Given the description of an element on the screen output the (x, y) to click on. 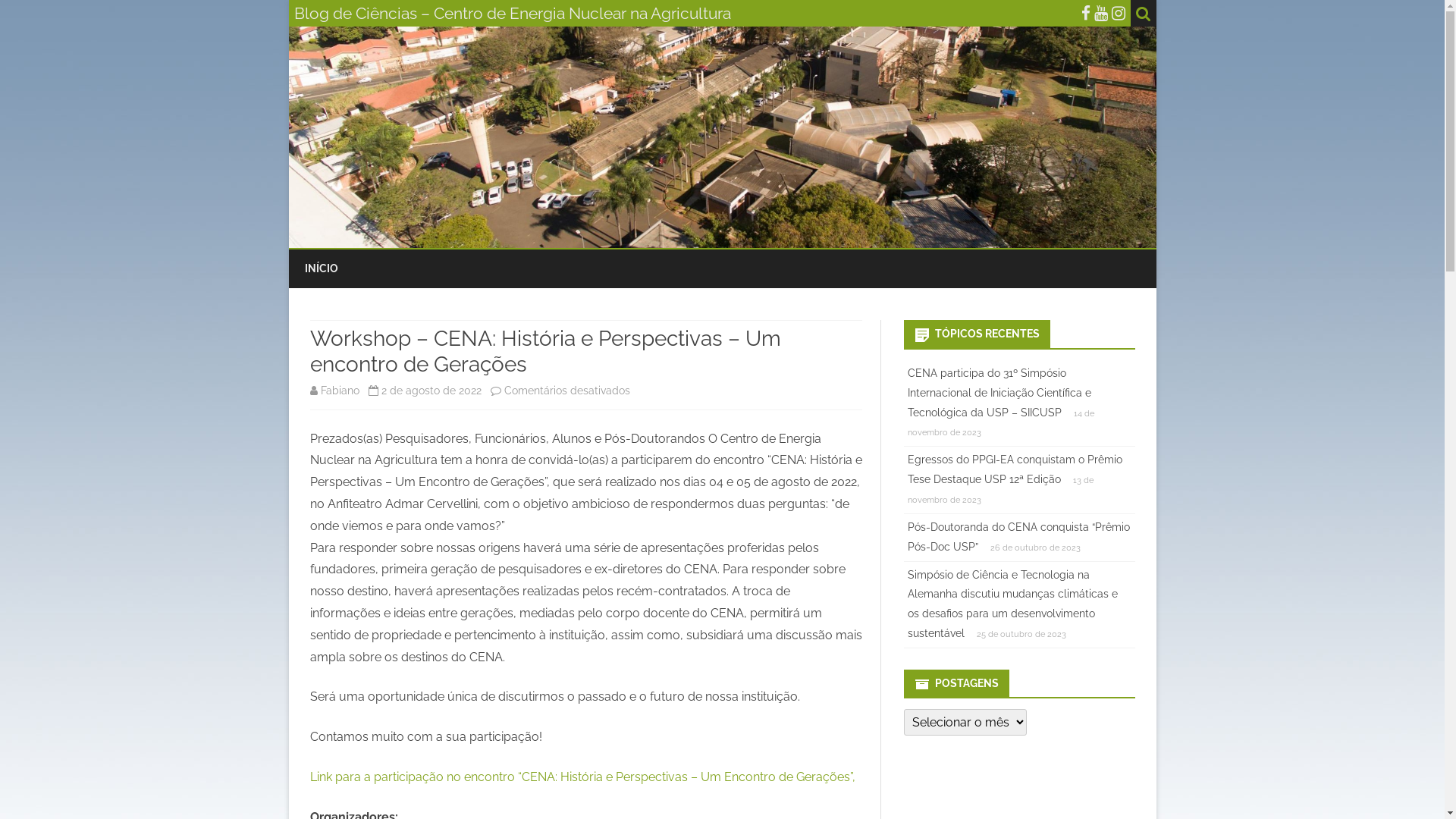
Fabiano Element type: text (339, 390)
Facebook Element type: hover (1085, 12)
Instagram Element type: hover (1118, 12)
Skip to content Element type: text (721, 249)
YouTube Element type: hover (1100, 12)
